Given the description of an element on the screen output the (x, y) to click on. 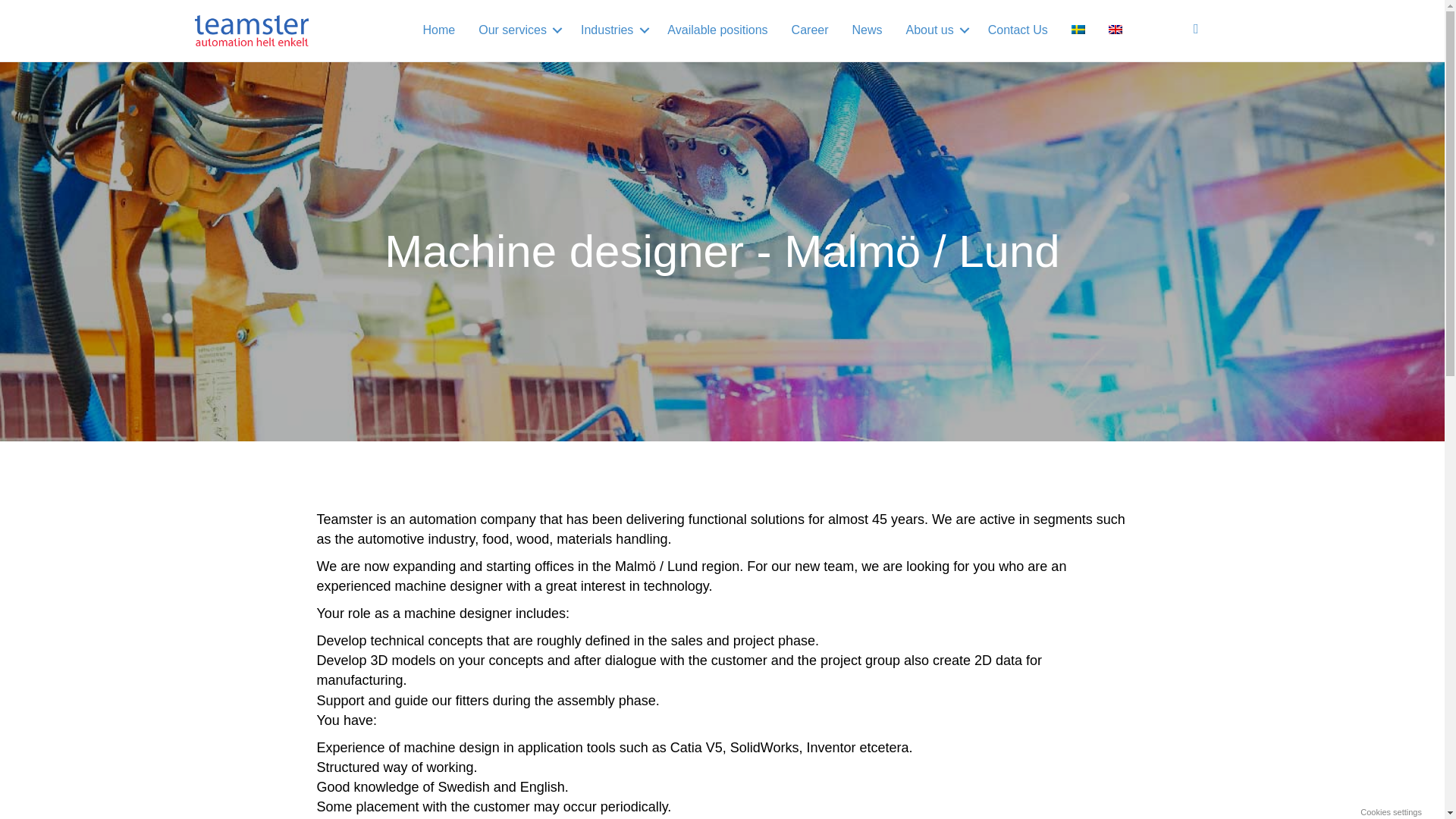
Available positions (717, 30)
Our services (518, 30)
Career (810, 30)
About us (935, 30)
Industries (612, 30)
News (866, 30)
Home (437, 30)
New logo (250, 30)
Contact Us (1017, 30)
